Given the description of an element on the screen output the (x, y) to click on. 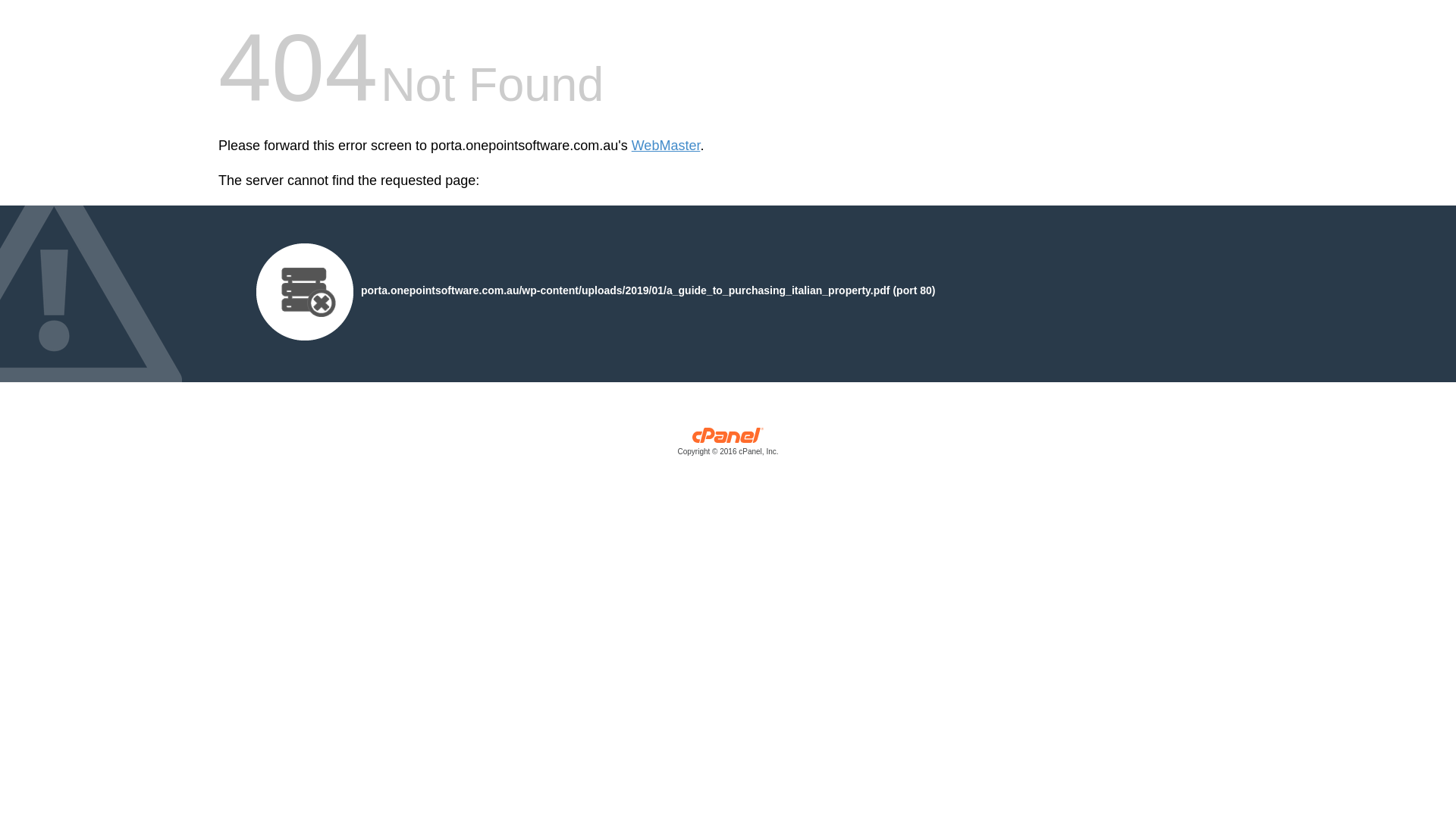
WebMaster Element type: text (665, 145)
